Given the description of an element on the screen output the (x, y) to click on. 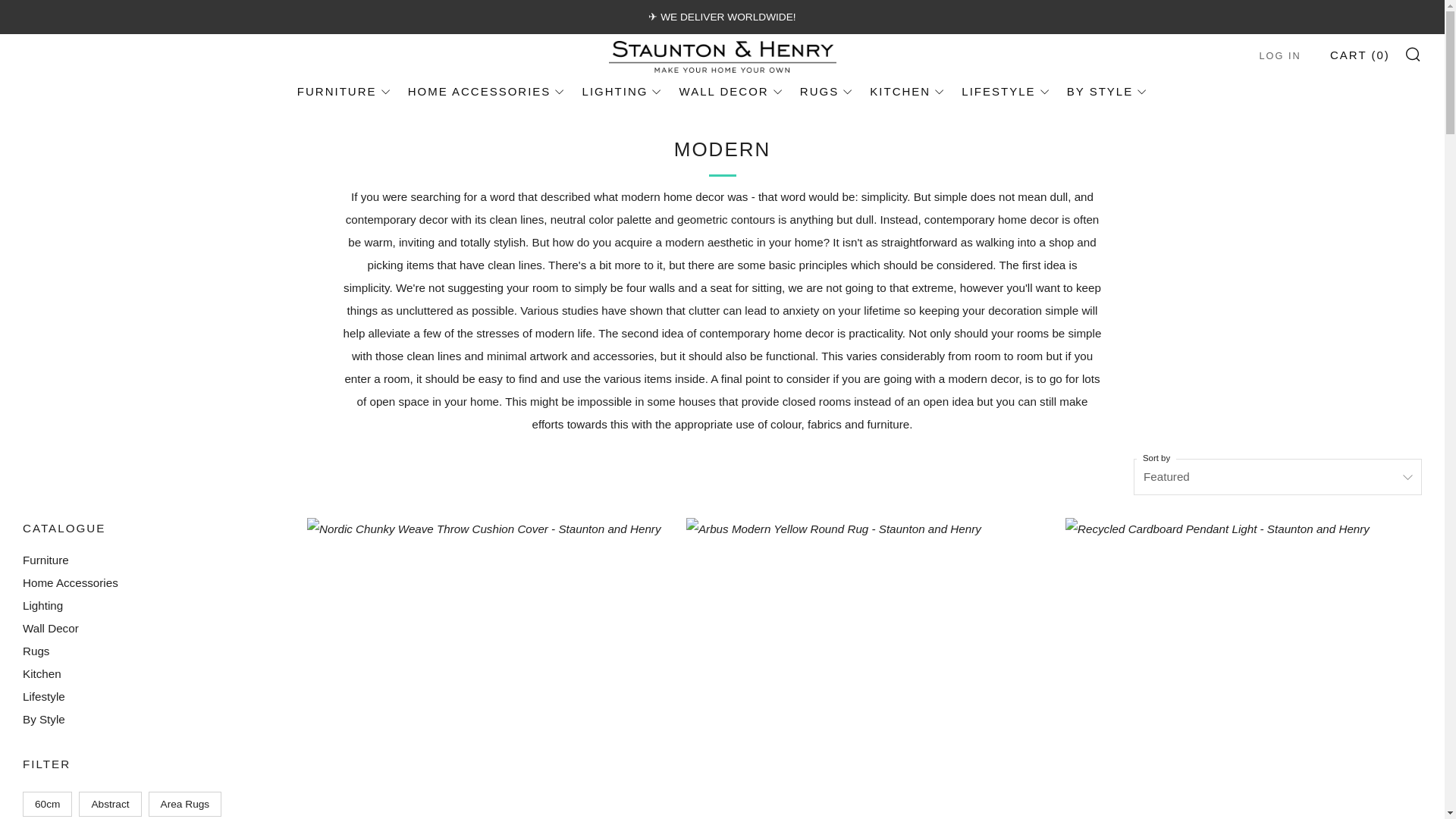
Narrow selection to products matching tag Area Rugs (185, 804)
Narrow selection to products matching tag Abstract (109, 804)
Narrow selection to products matching tag 60cm (47, 804)
